Given the description of an element on the screen output the (x, y) to click on. 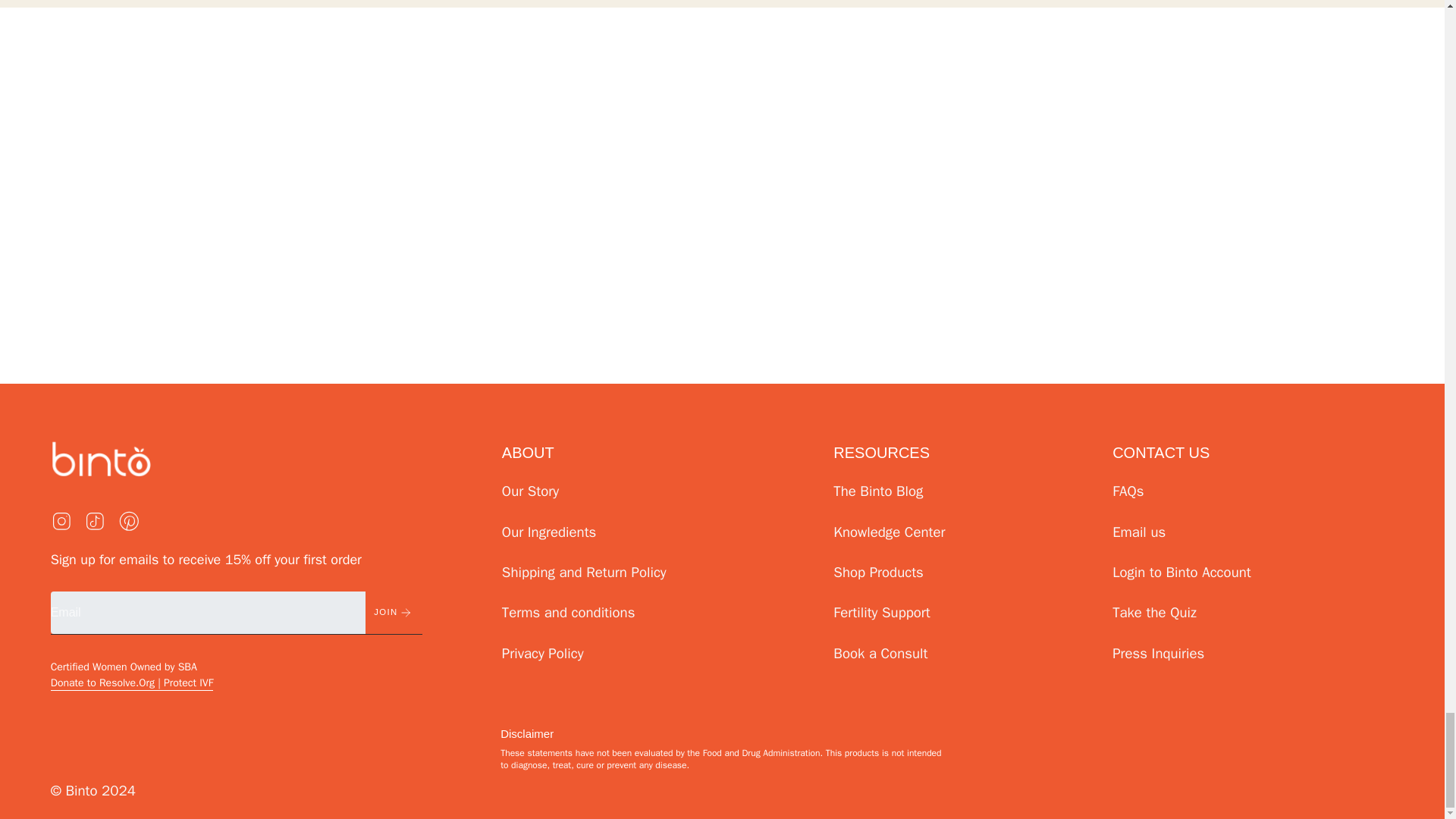
Binto on Instagram (61, 519)
Binto on Pinterest (128, 519)
Binto on TikTok (95, 519)
